Given the description of an element on the screen output the (x, y) to click on. 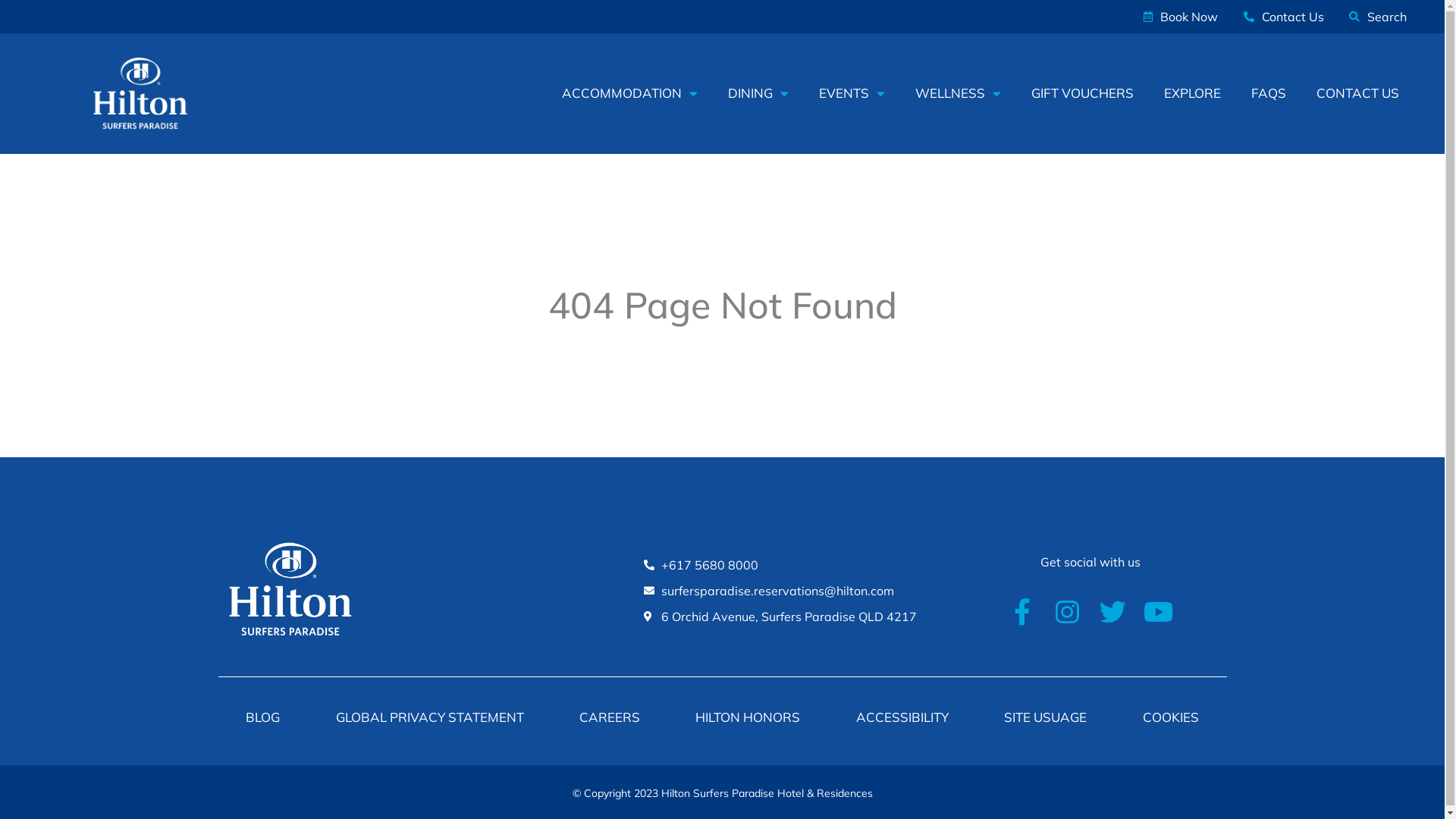
+617 5680 8000 Element type: text (787, 564)
Contact Us Element type: text (1282, 16)
GLOBAL PRIVACY STATEMENT Element type: text (429, 716)
WELLNESS Element type: text (958, 92)
SITE USUAGE Element type: text (1045, 716)
ACCOMMODATION Element type: text (629, 92)
CAREERS Element type: text (609, 716)
FAQS Element type: text (1268, 92)
GIFT VOUCHERS Element type: text (1082, 92)
DINING Element type: text (757, 92)
Book Now Element type: text (1178, 16)
HILTON HONORS Element type: text (748, 716)
BLOG Element type: text (262, 716)
6 Orchid Avenue, Surfers Paradise QLD 4217 Element type: text (787, 616)
EVENTS Element type: text (851, 92)
ACCESSIBILITY Element type: text (901, 716)
COOKIES Element type: text (1170, 716)
EXPLORE Element type: text (1192, 92)
surfersparadise.reservations@hilton.com Element type: text (787, 590)
Search Element type: text (1376, 16)
CONTACT US Element type: text (1350, 92)
